Given the description of an element on the screen output the (x, y) to click on. 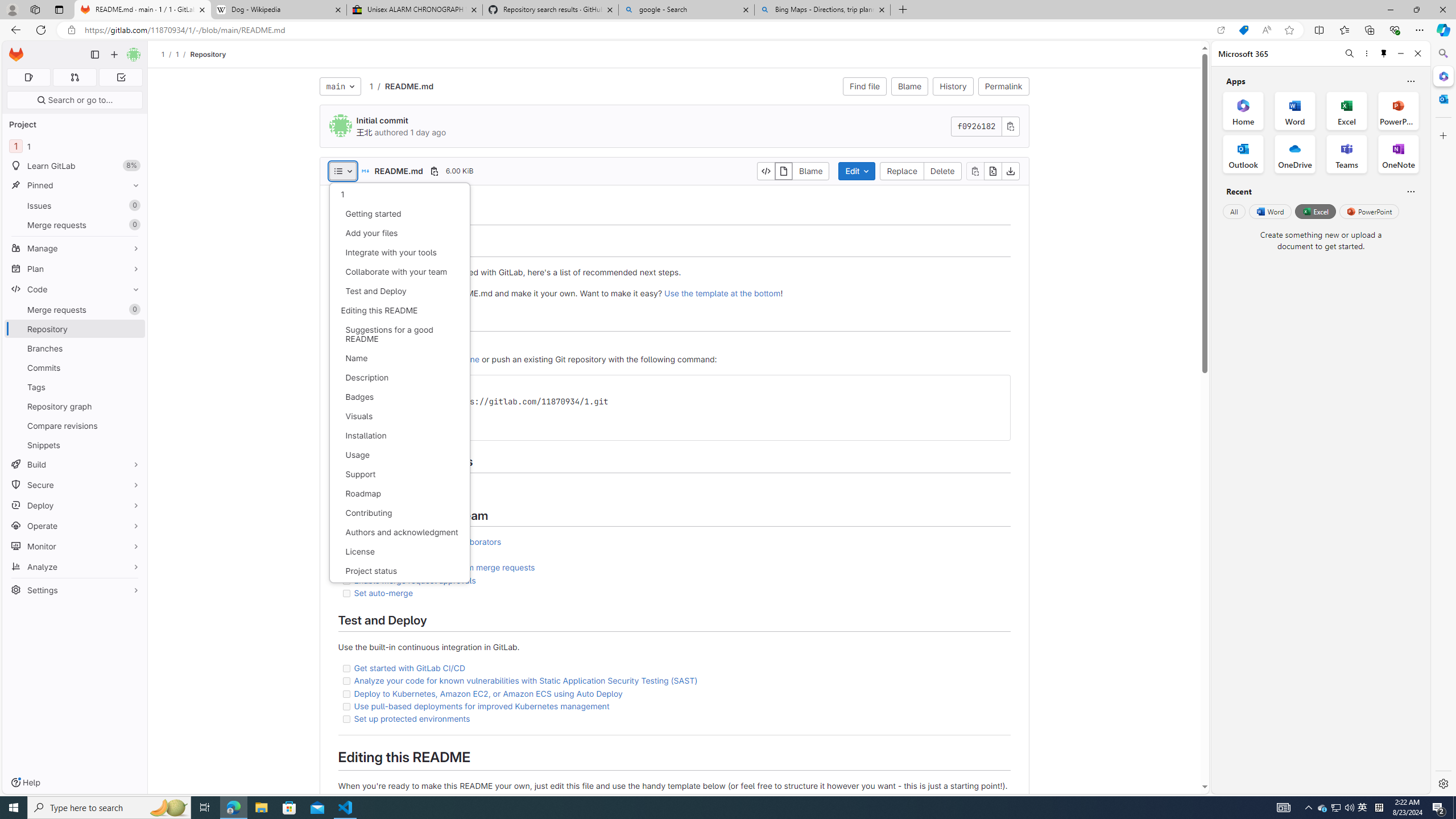
Merge requests 0 (74, 309)
PowerPoint (1369, 210)
Repository graph (74, 406)
Tags (74, 386)
Build (74, 464)
Pin Branches (132, 348)
Unpin Merge requests (132, 309)
Blame (909, 85)
Edit (857, 171)
1/ (183, 53)
Compare revisions (74, 425)
